Given the description of an element on the screen output the (x, y) to click on. 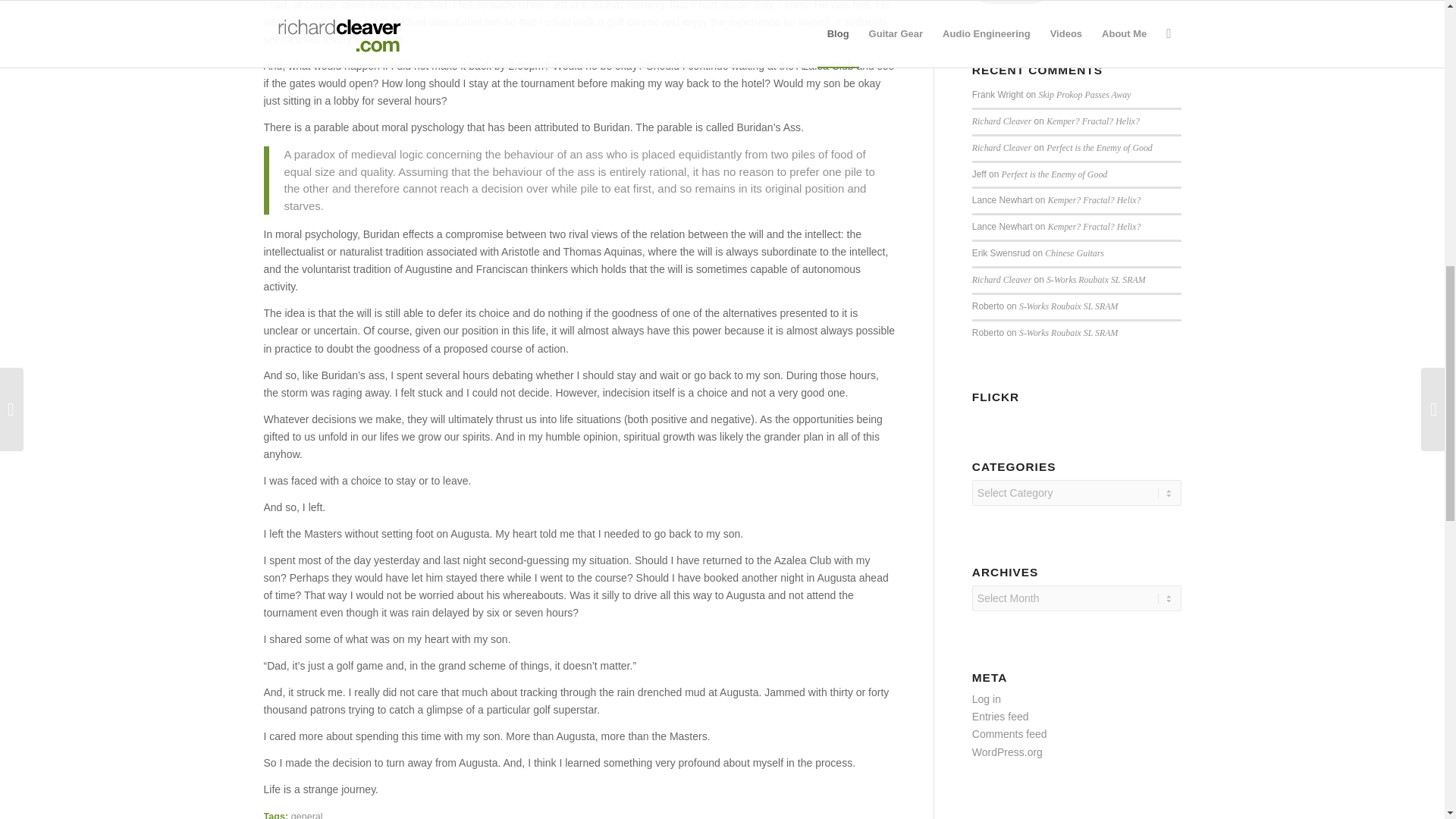
Kemper? Fractal? Helix? (1094, 226)
Richard Cleaver (1001, 121)
Skip Prokop Passes Away (1084, 94)
Perfect is the Enemy of Good (1099, 147)
Kemper? Fractal? Helix? (1093, 121)
Subscribe (1011, 2)
Chinese Guitars (1074, 253)
Kemper? Fractal? Helix? (1094, 199)
Perfect is the Enemy of Good (1054, 173)
general (307, 815)
Richard Cleaver (1001, 147)
